Given the description of an element on the screen output the (x, y) to click on. 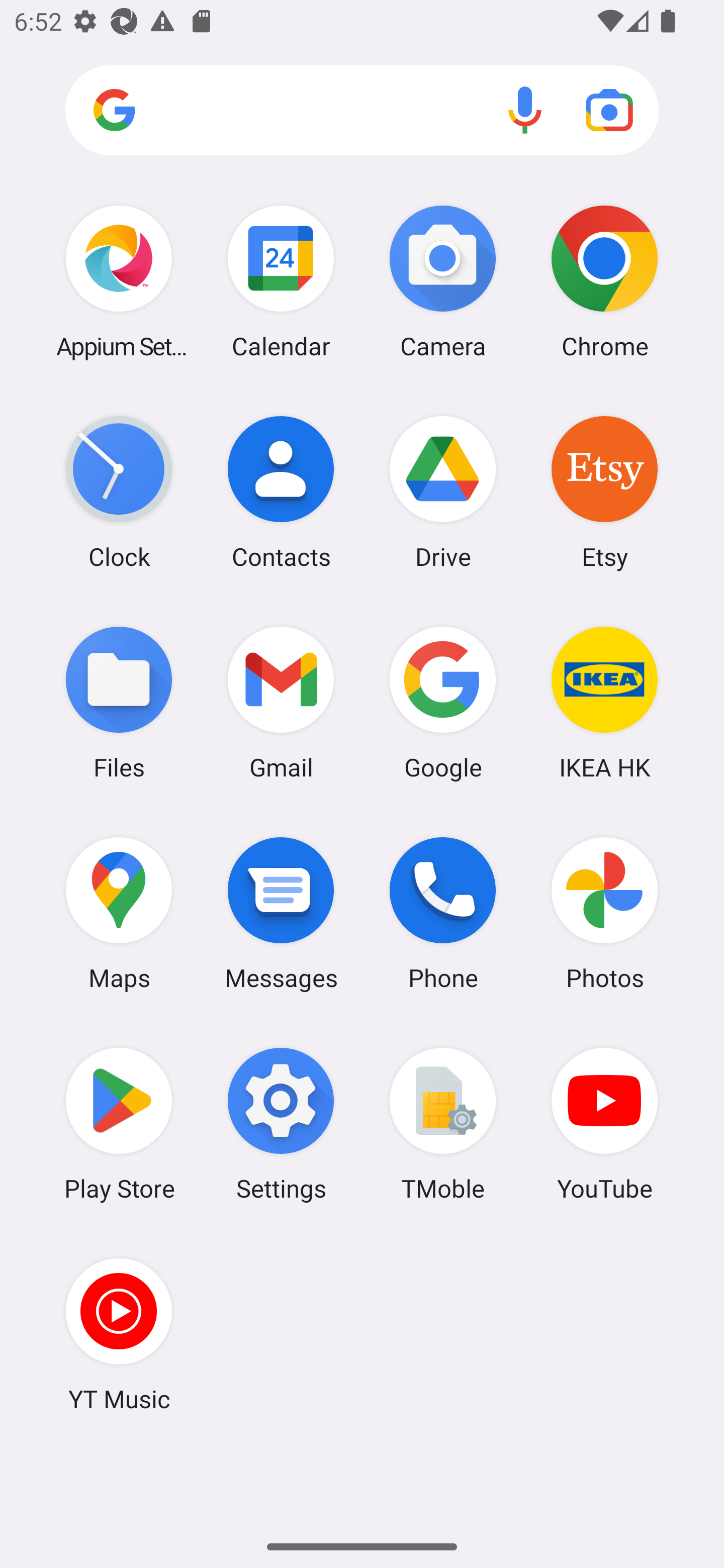
Search apps, web and more (361, 110)
Voice search (524, 109)
Google Lens (608, 109)
Appium Settings (118, 281)
Calendar (280, 281)
Camera (443, 281)
Chrome (604, 281)
Clock (118, 492)
Contacts (280, 492)
Drive (443, 492)
Etsy (604, 492)
Files (118, 702)
Gmail (280, 702)
Google (443, 702)
IKEA HK (604, 702)
Maps (118, 913)
Messages (280, 913)
Phone (443, 913)
Photos (604, 913)
Play Store (118, 1124)
Settings (280, 1124)
TMoble (443, 1124)
YouTube (604, 1124)
YT Music (118, 1334)
